Given the description of an element on the screen output the (x, y) to click on. 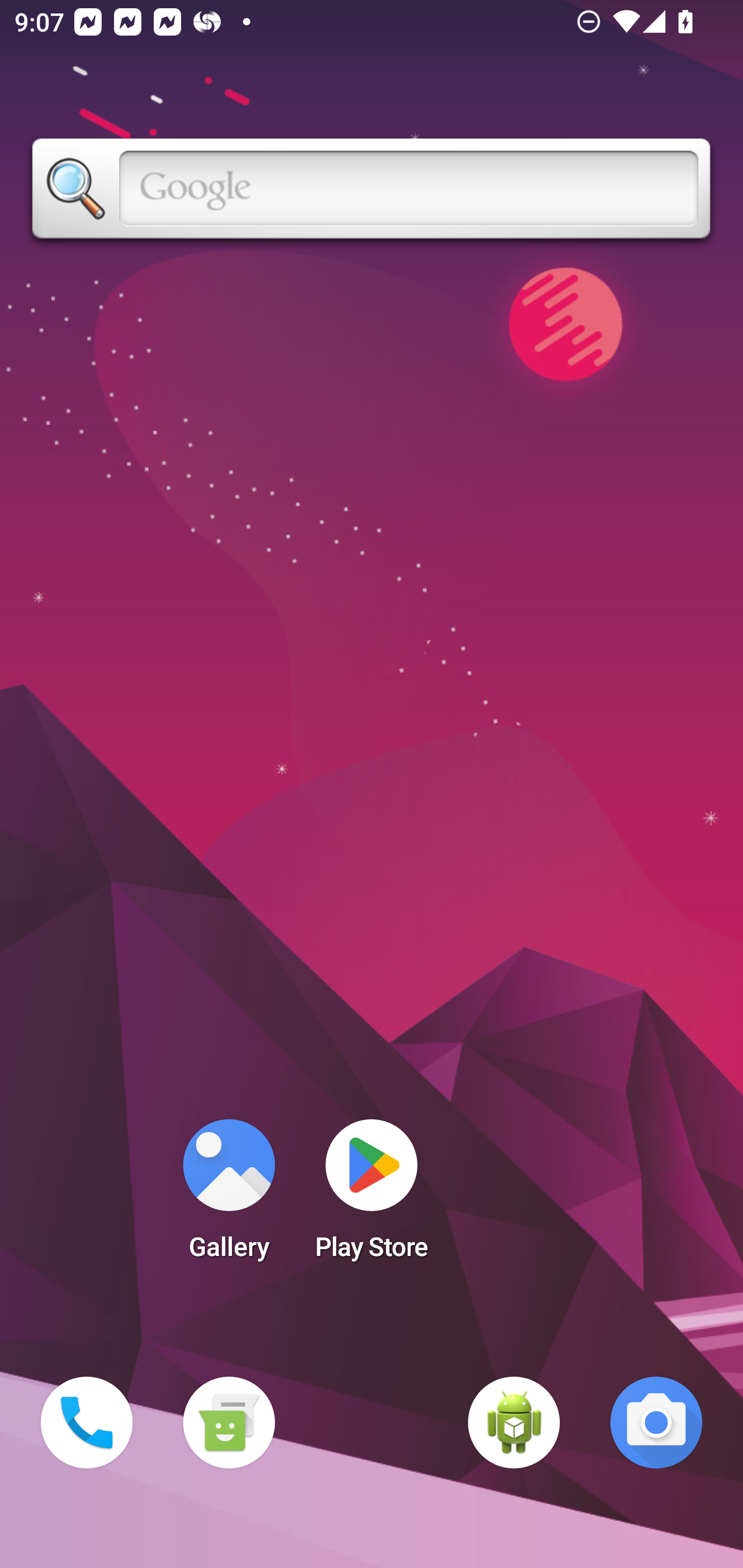
Gallery (228, 1195)
Play Store (371, 1195)
Phone (86, 1422)
Messaging (228, 1422)
WebView Browser Tester (513, 1422)
Camera (656, 1422)
